Given the description of an element on the screen output the (x, y) to click on. 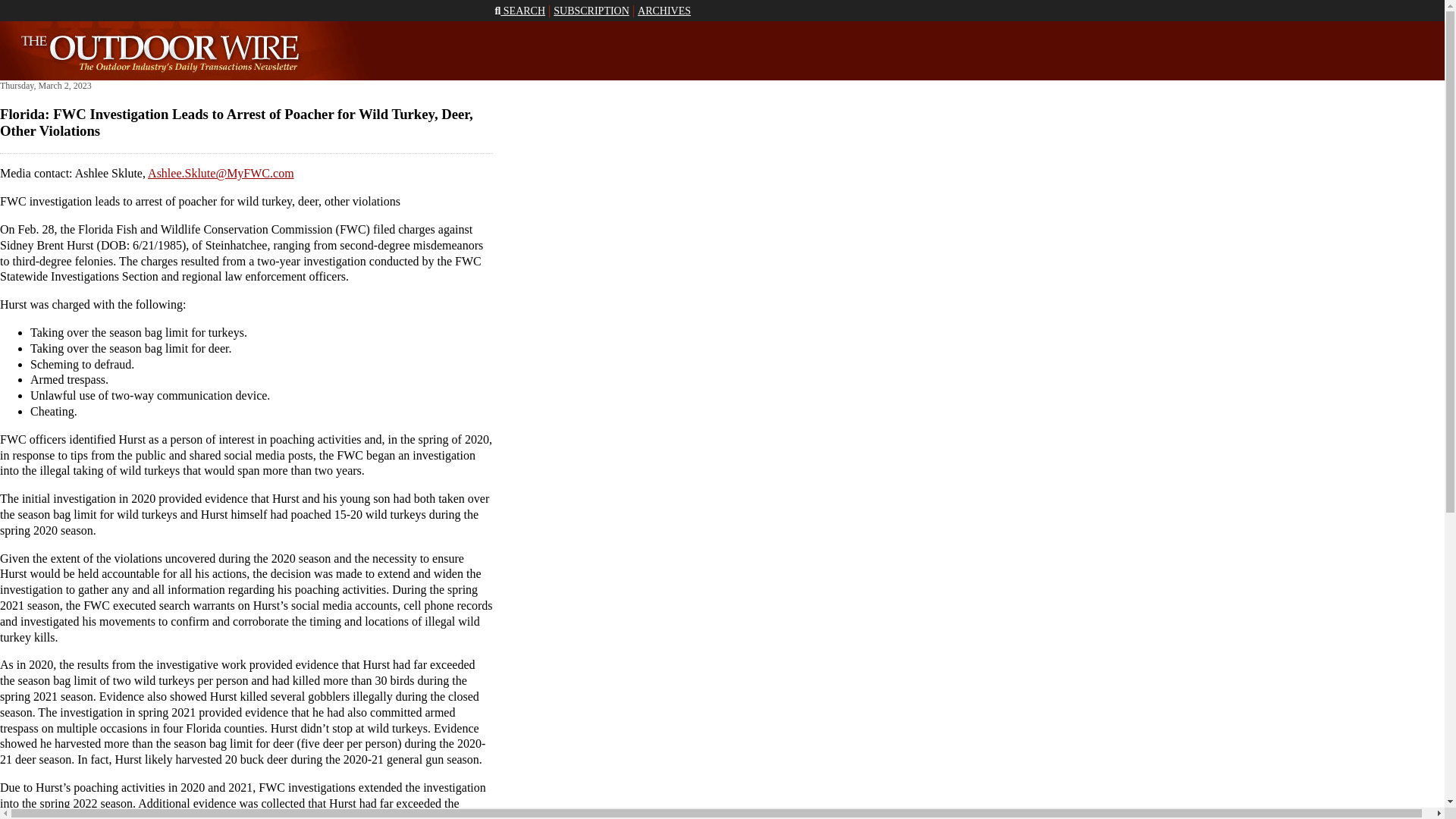
ARCHIVES (663, 10)
SUBSCRIPTION (590, 10)
SEARCH (519, 10)
